Given the description of an element on the screen output the (x, y) to click on. 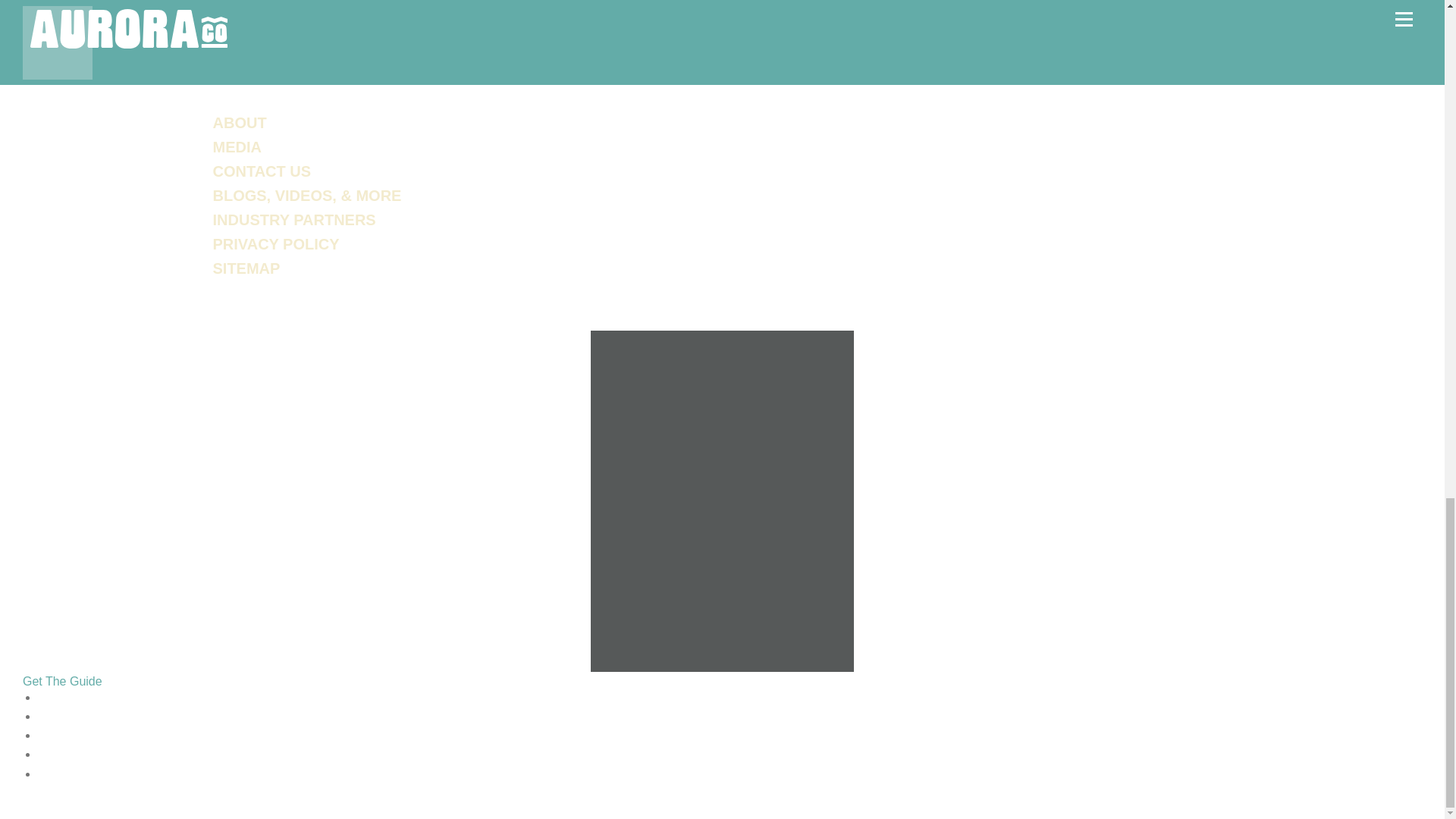
Get The Guide (722, 667)
Get The Guide (62, 680)
